Given the description of an element on the screen output the (x, y) to click on. 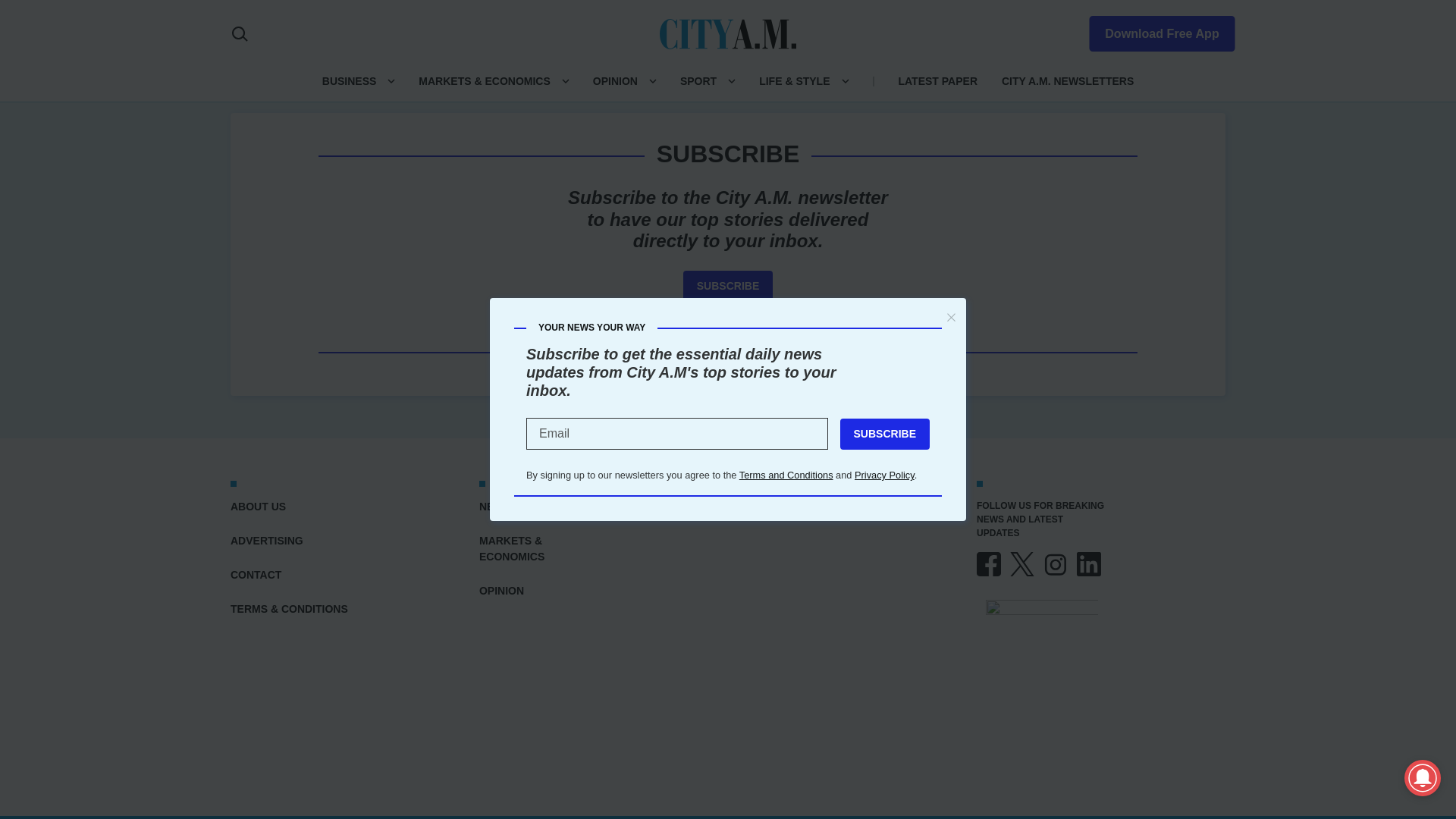
LINKEDIN (1088, 564)
FACEBOOK (988, 564)
X (1021, 564)
INSTAGRAM (1055, 564)
